Given the description of an element on the screen output the (x, y) to click on. 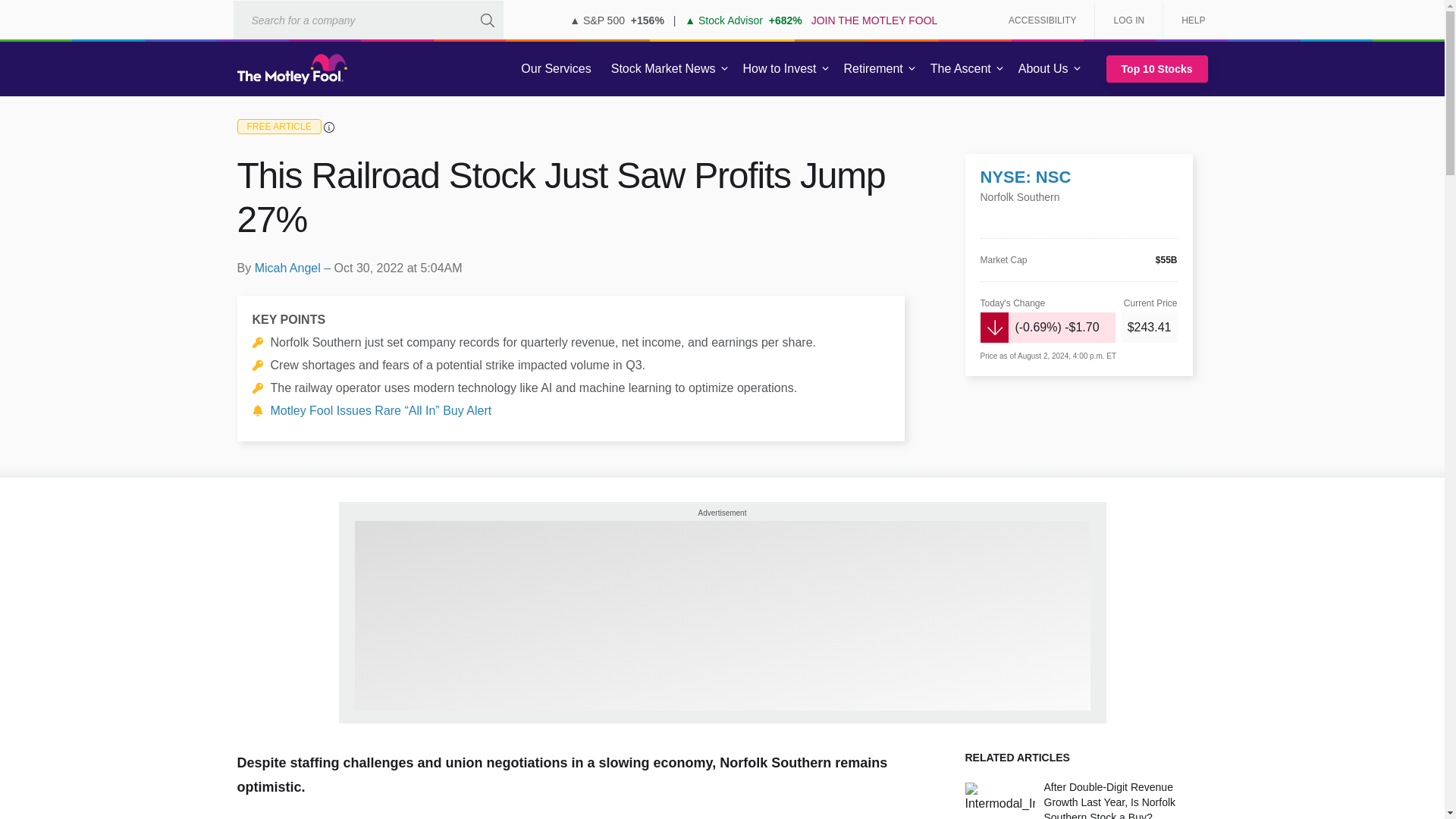
Our Services (555, 68)
HELP (1187, 19)
ACCESSIBILITY (1042, 19)
LOG IN (1128, 19)
How to Invest (779, 68)
Stock Market News (662, 68)
